Given the description of an element on the screen output the (x, y) to click on. 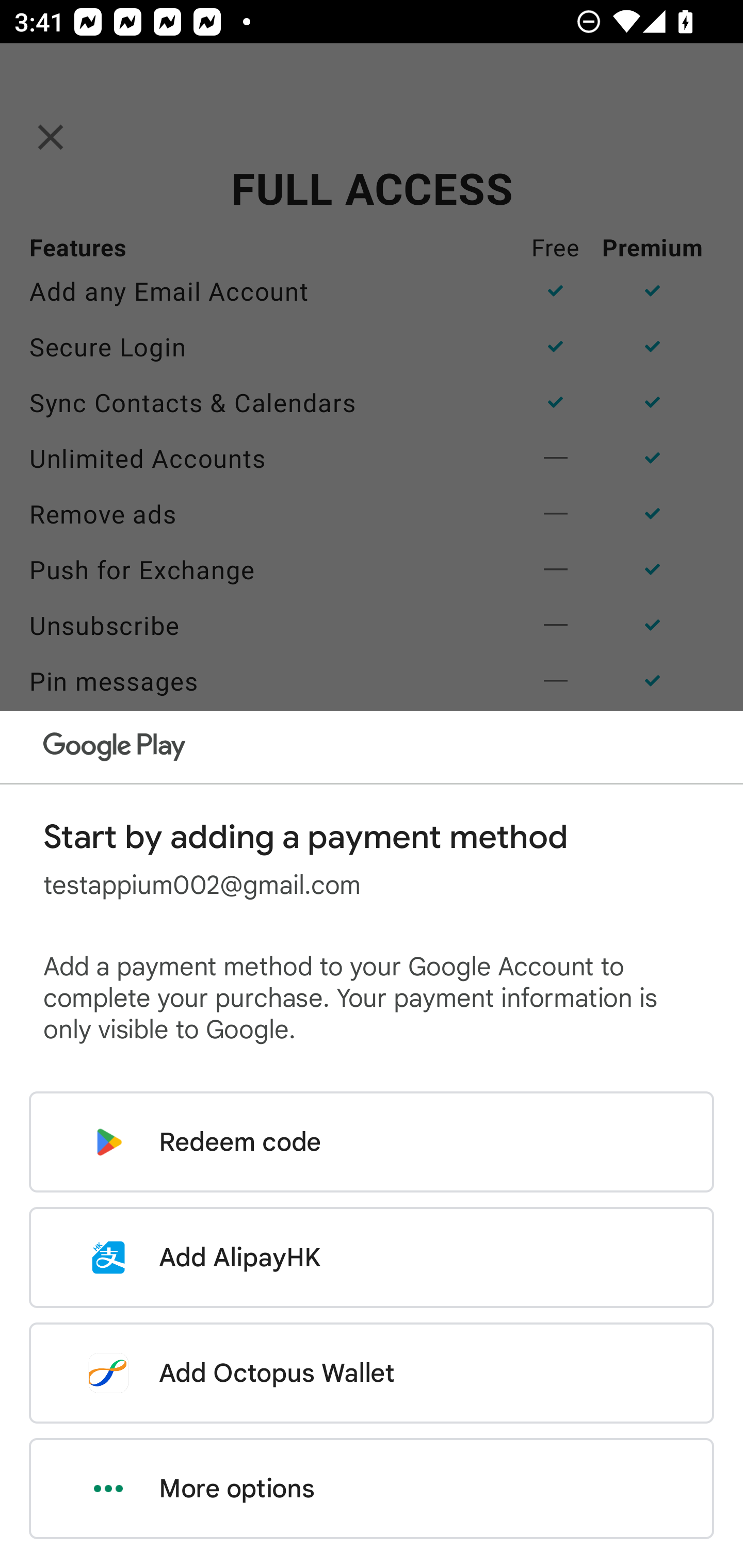
Redeem code (371, 1142)
Add AlipayHK (371, 1257)
Add Octopus Wallet (371, 1372)
More options (371, 1488)
